Given the description of an element on the screen output the (x, y) to click on. 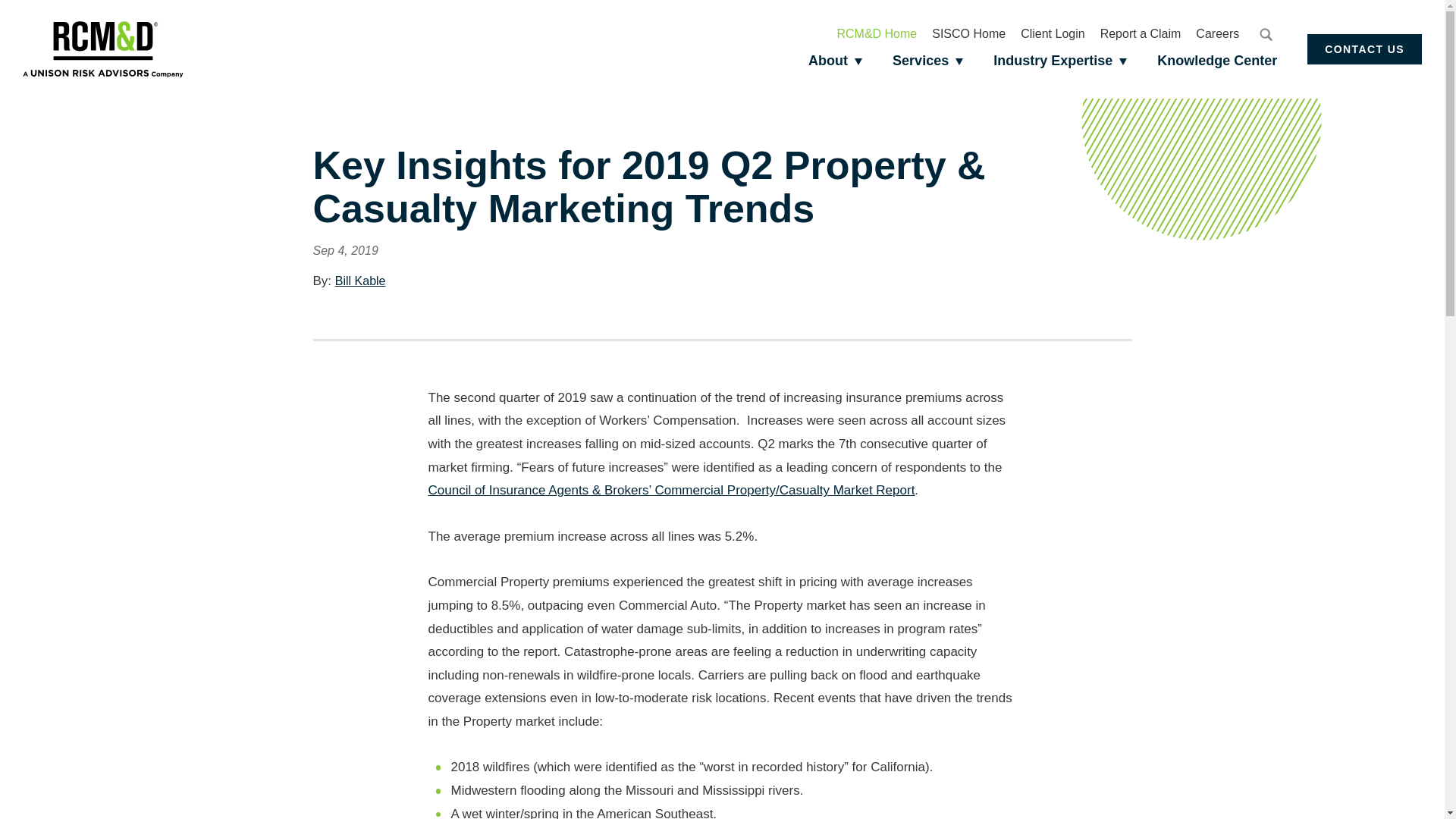
SISCO Home (968, 33)
Industry Expertise (1059, 60)
Services (927, 60)
About (835, 60)
homepage (103, 48)
Client Login (1052, 33)
Report a Claim (1140, 33)
Careers (1217, 33)
Knowledge Center (1216, 60)
